Given the description of an element on the screen output the (x, y) to click on. 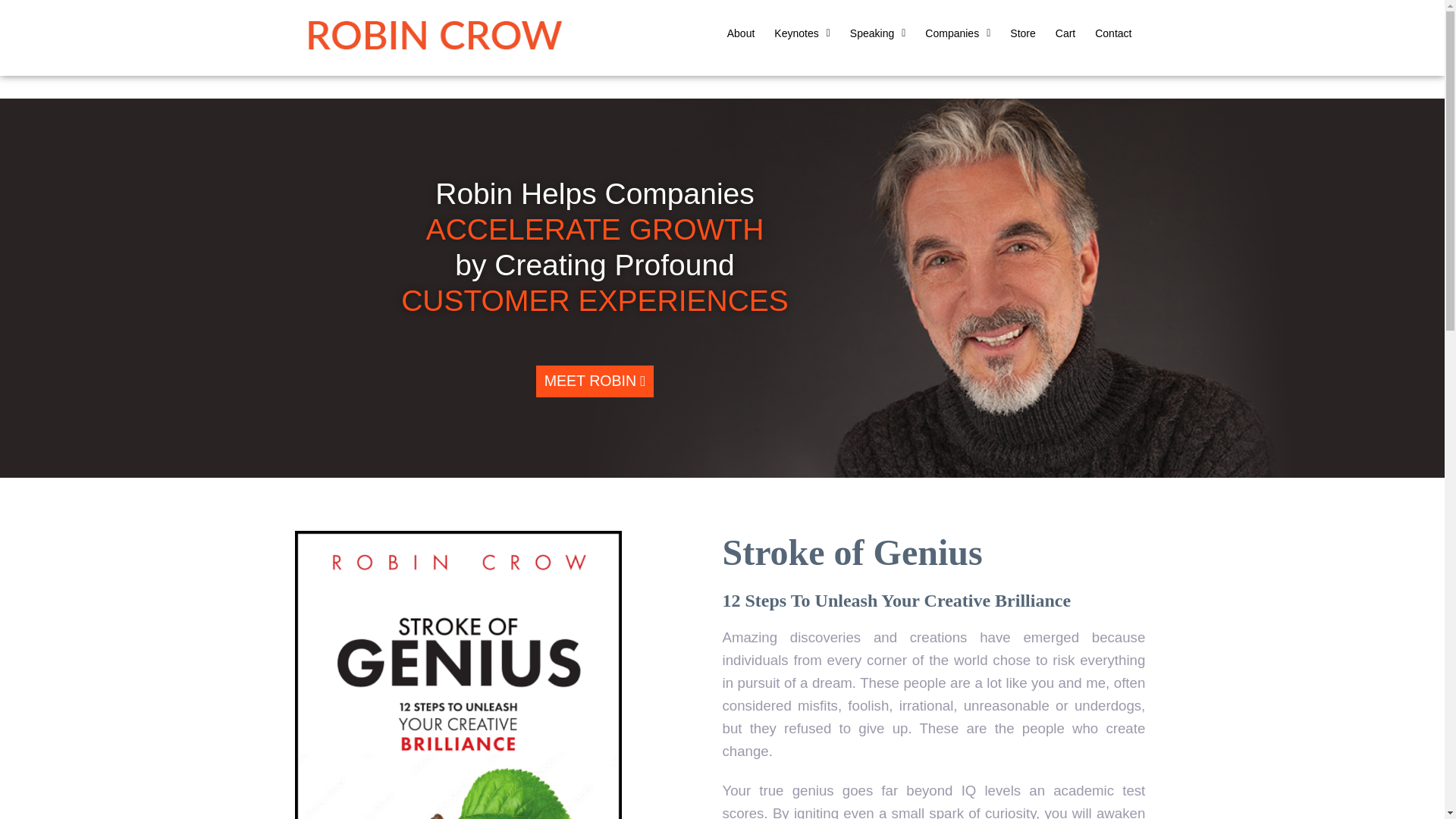
Keynotes (802, 33)
Speaking (878, 33)
Companies (957, 33)
Store (1022, 33)
About (740, 33)
Cart (1065, 33)
Contact (1112, 33)
